Given the description of an element on the screen output the (x, y) to click on. 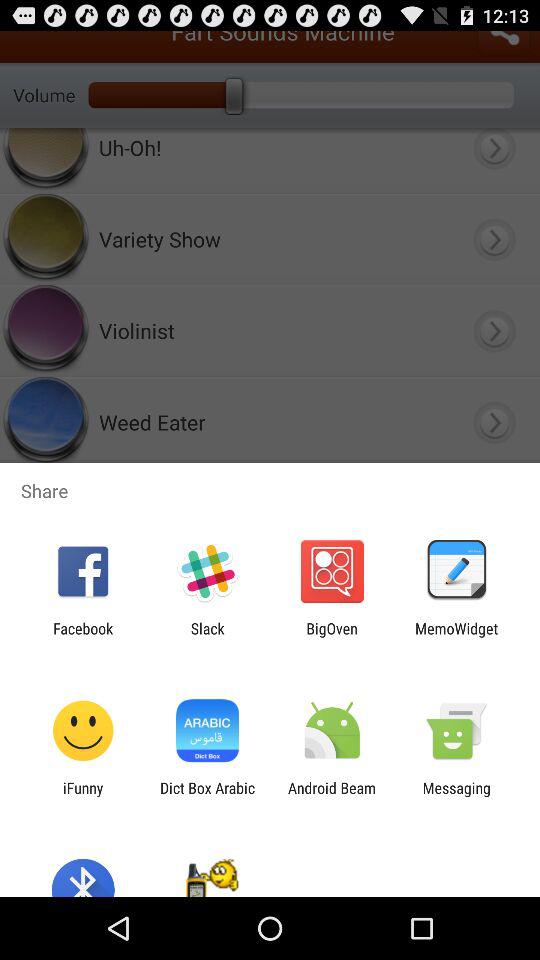
jump until the facebook icon (83, 637)
